Given the description of an element on the screen output the (x, y) to click on. 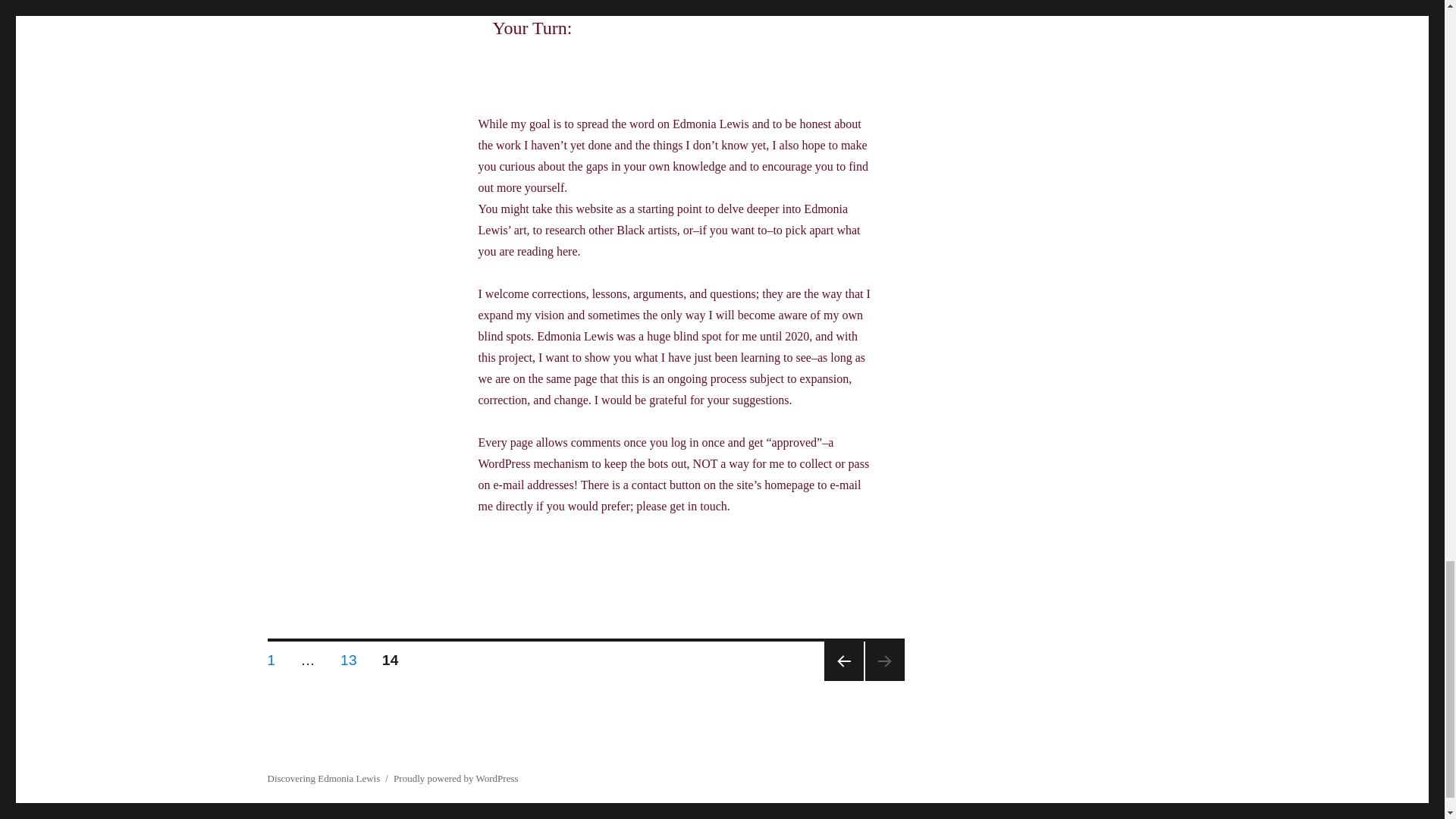
Proudly powered by WordPress (455, 778)
PREVIOUS PAGE (271, 657)
Discovering Edmonia Lewis (843, 660)
